Given the description of an element on the screen output the (x, y) to click on. 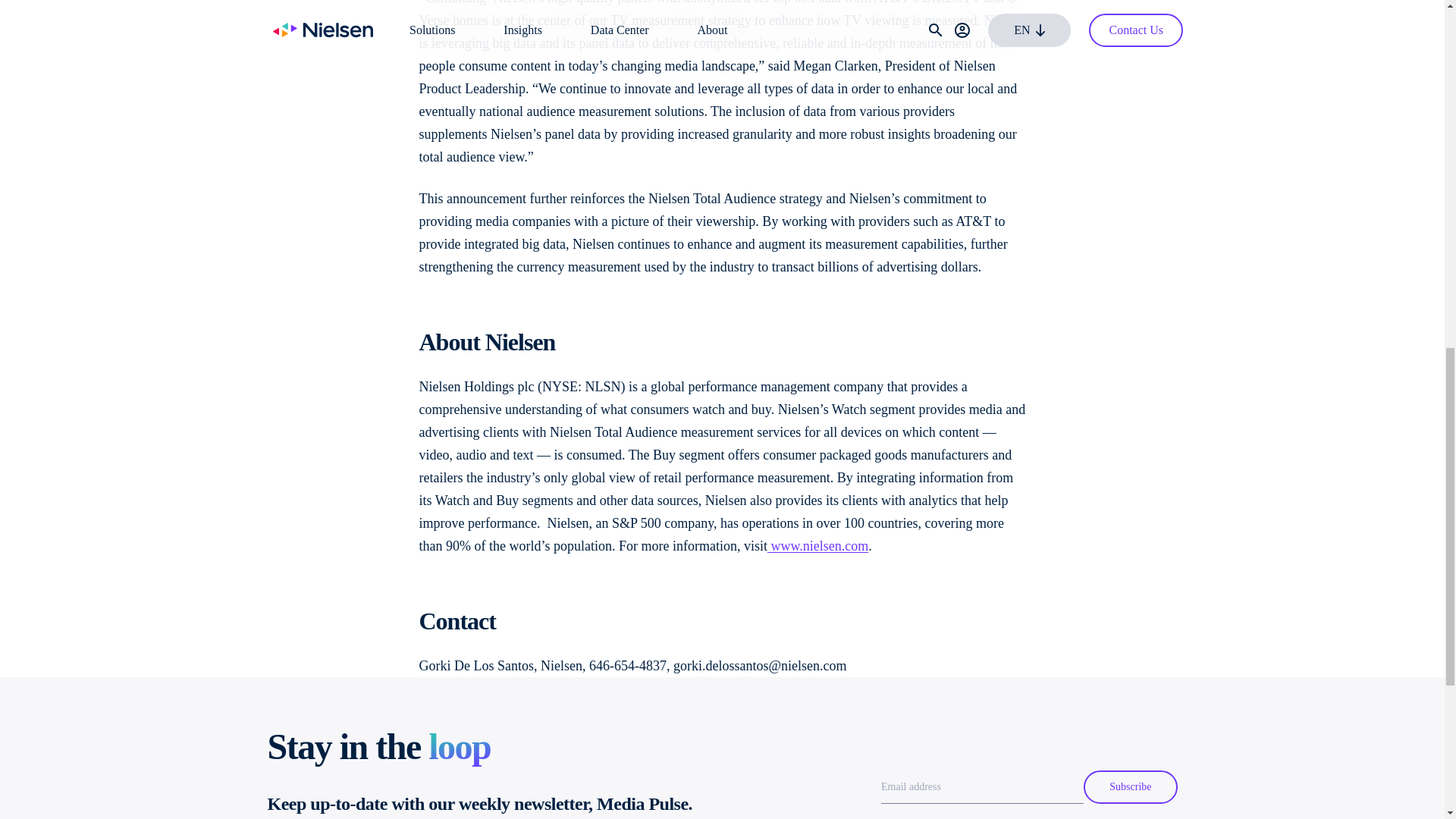
Subscribe (1129, 786)
